Given the description of an element on the screen output the (x, y) to click on. 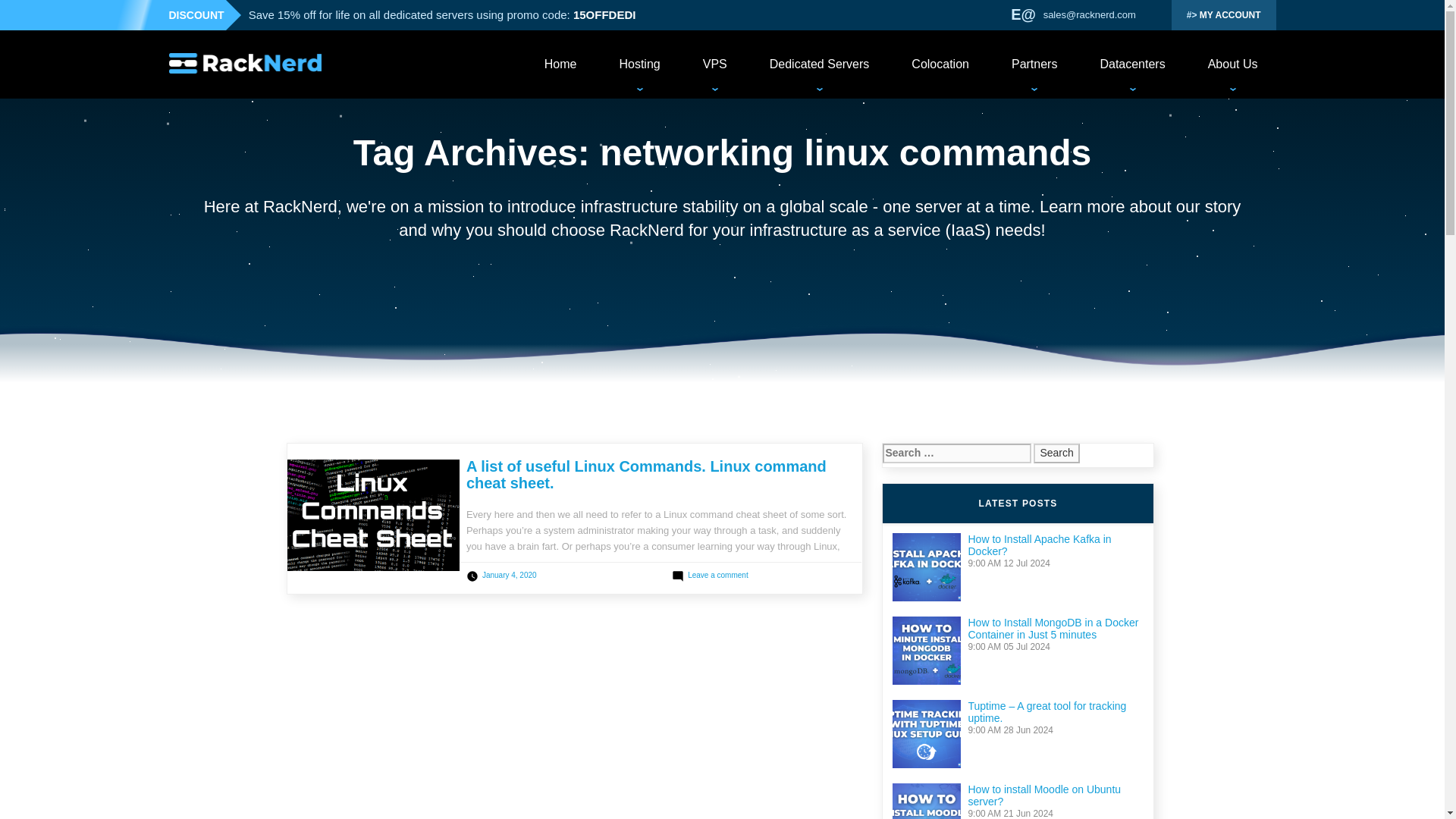
VPS (714, 63)
Search (1055, 453)
Home (560, 63)
Partners (1033, 63)
About Us (1232, 63)
Dedicated Servers (819, 63)
MY ACCOUNT (1224, 15)
Dedicated Servers (819, 63)
Search (1055, 453)
Colocation (940, 63)
Hosting (638, 63)
Home (560, 63)
Datacenters (1131, 63)
VPS (714, 63)
Hosting (638, 63)
